Given the description of an element on the screen output the (x, y) to click on. 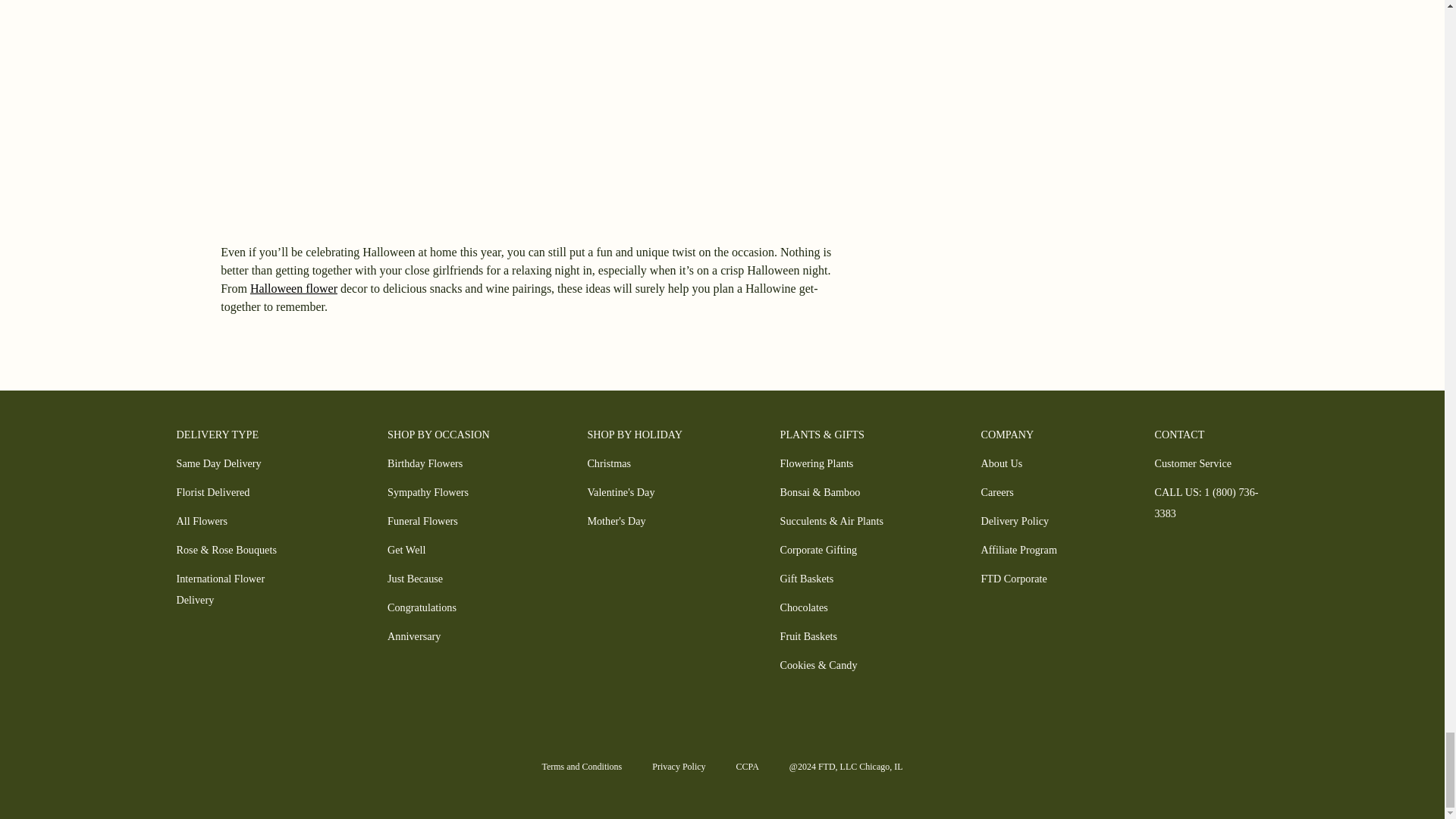
Florist Delivered (212, 491)
All Flowers (201, 521)
Same Day Delivery (218, 463)
Halloween flower (293, 287)
International Flower Delivery (220, 589)
Congratulations (422, 607)
Get Well (406, 549)
Just Because (414, 578)
Sympathy Flowers (427, 491)
Birthday Flowers (425, 463)
